Given the description of an element on the screen output the (x, y) to click on. 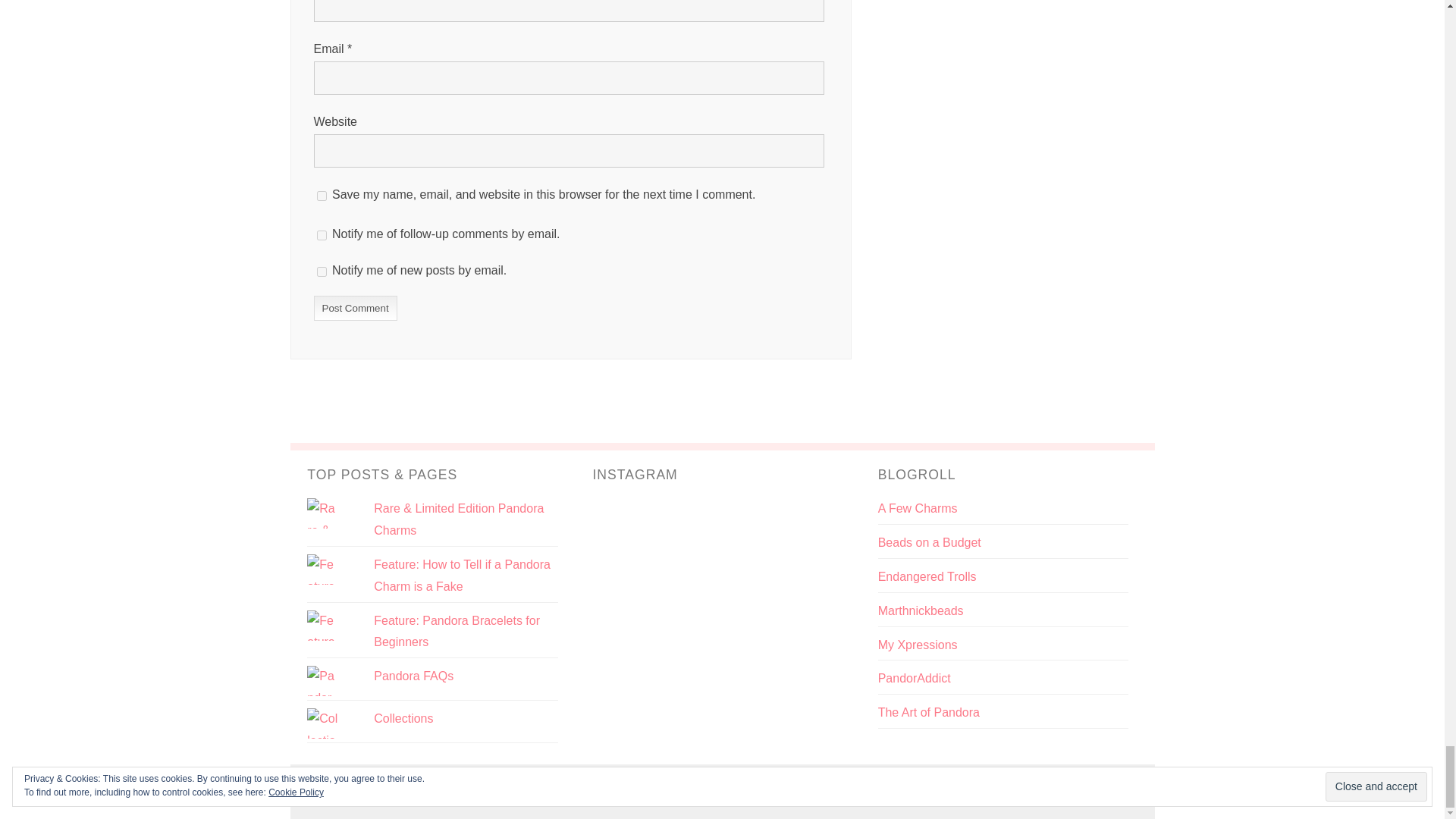
yes (321, 194)
subscribe (321, 234)
Post Comment (355, 307)
subscribe (321, 271)
